Given the description of an element on the screen output the (x, y) to click on. 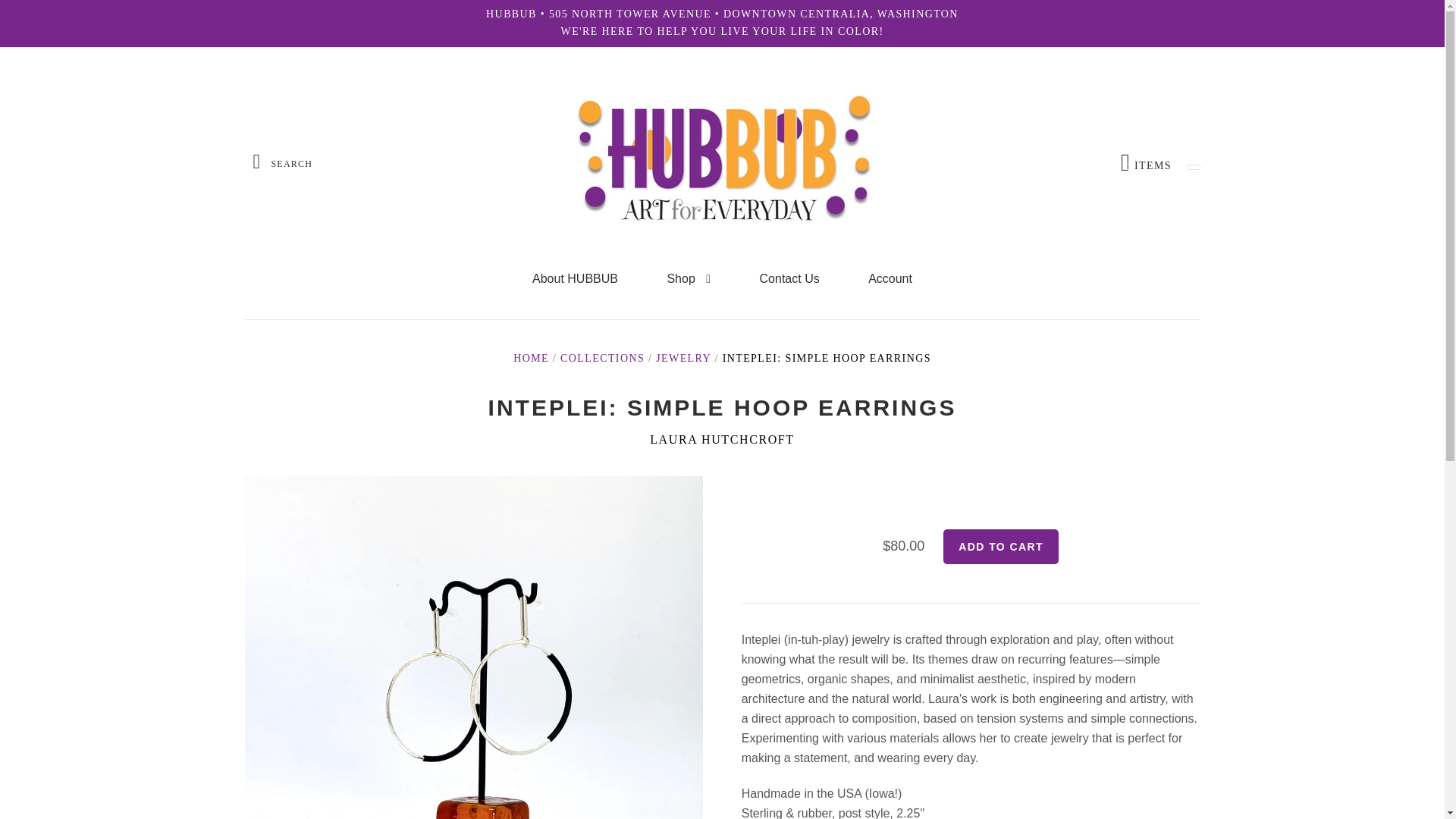
Contact Us (789, 278)
Add to cart (1000, 546)
LAURA HUTCHCROFT (721, 439)
Add to cart (1000, 546)
Account (889, 278)
COLLECTIONS (1146, 162)
HOME (602, 357)
About HUBBUB (530, 357)
Shop (574, 278)
JEWELRY (688, 278)
